Given the description of an element on the screen output the (x, y) to click on. 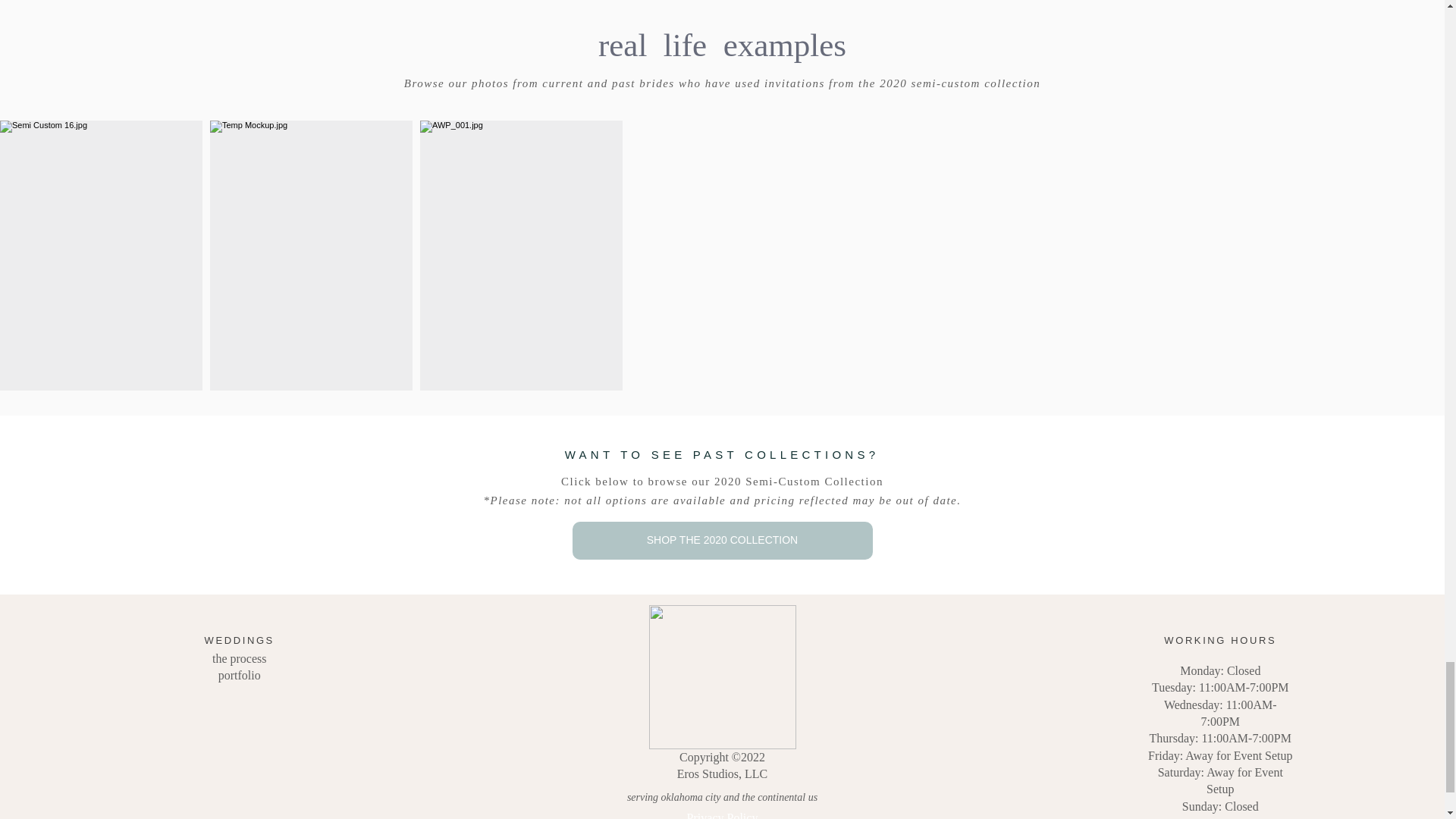
portfolio (239, 675)
SHOP THE 2020 COLLECTION (722, 540)
the process (239, 658)
Privacy Policy (722, 815)
Icon-03.png (722, 677)
